Given the description of an element on the screen output the (x, y) to click on. 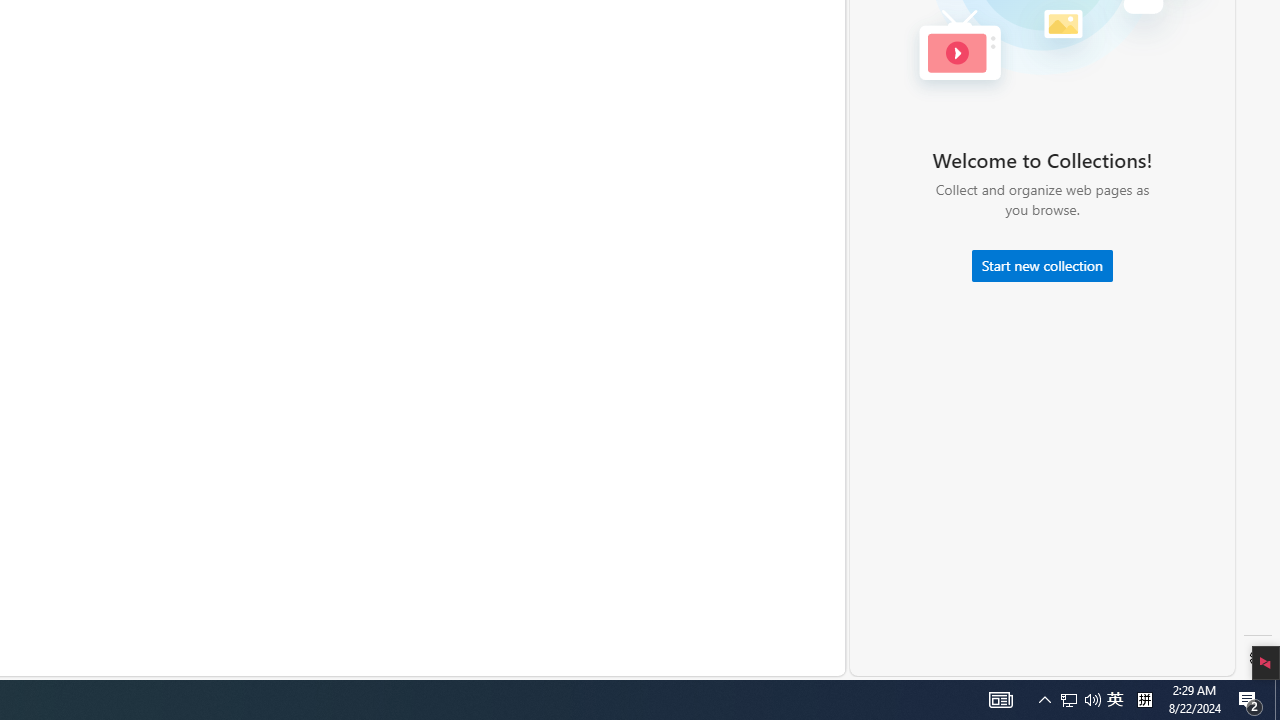
Start new collection (1042, 265)
